Given the description of an element on the screen output the (x, y) to click on. 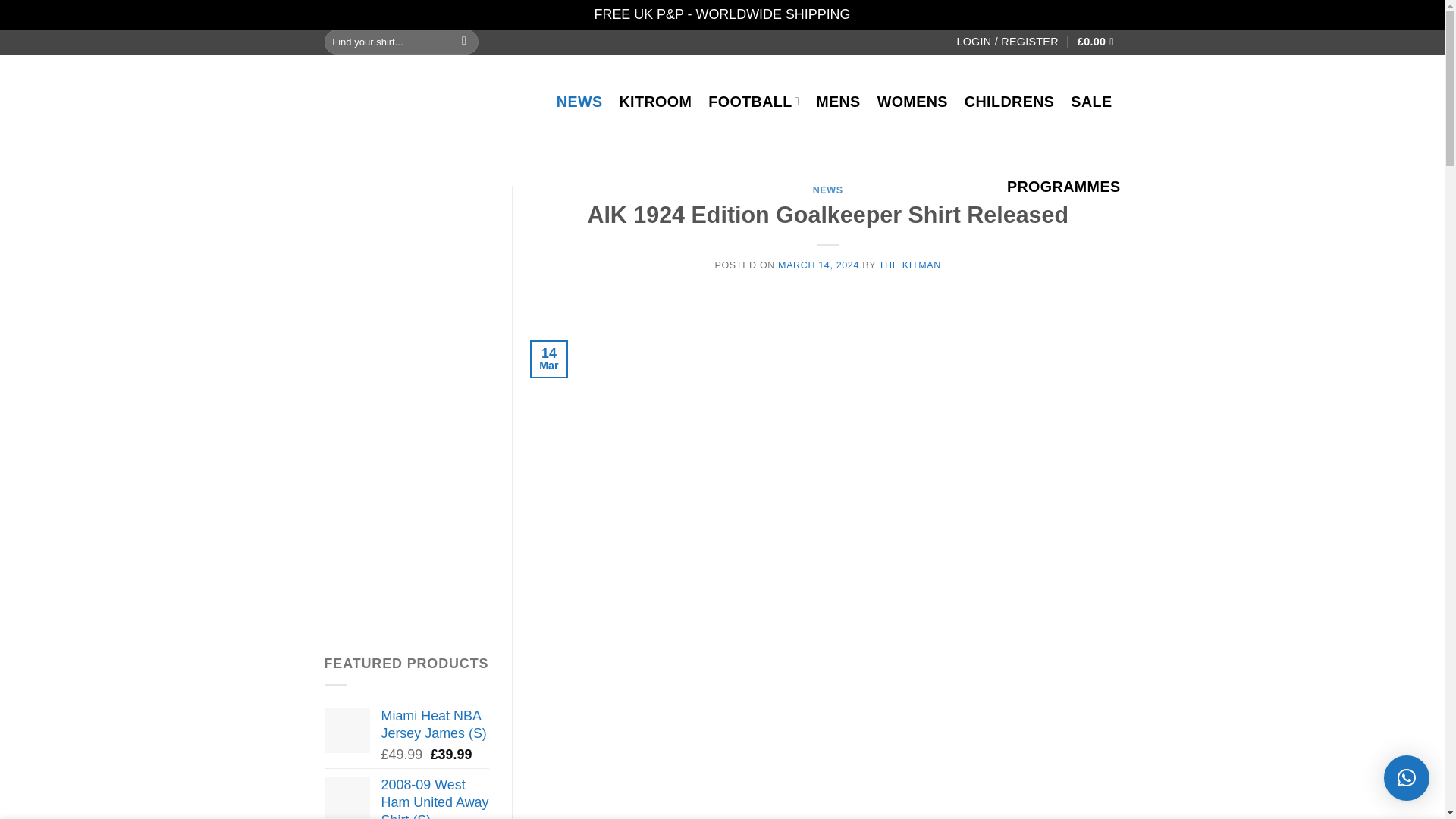
Customer reviews powered by Trustpilot (714, 41)
Basket (1099, 41)
Search (464, 41)
FOOTBALL (753, 101)
